Given the description of an element on the screen output the (x, y) to click on. 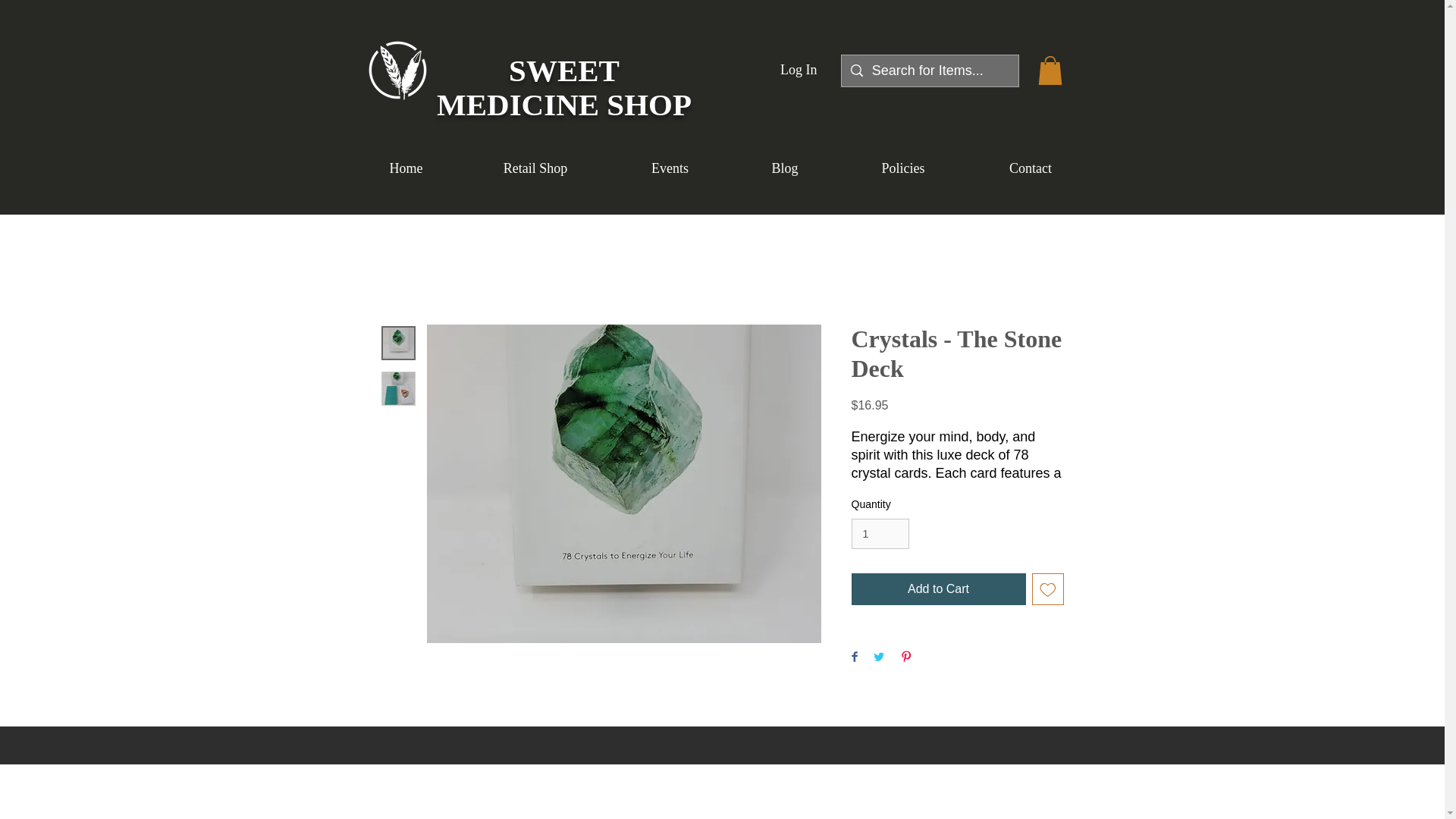
Home (405, 168)
Log In (799, 70)
Add to Cart (937, 589)
Contact (1031, 168)
Retail Shop (534, 168)
1 (879, 533)
Events (670, 168)
Blog (785, 168)
